Given the description of an element on the screen output the (x, y) to click on. 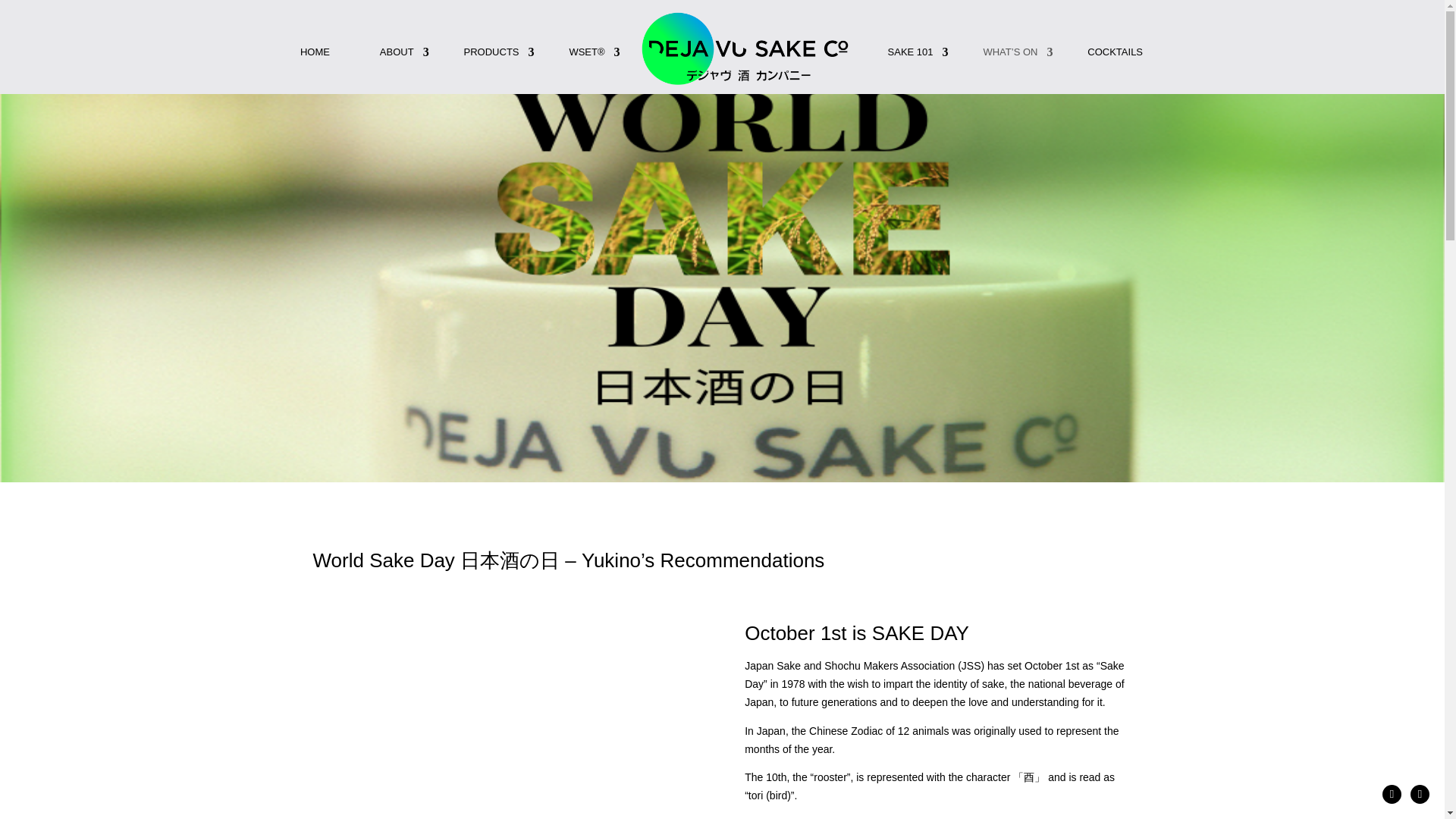
Facebook (1390, 793)
HOME (315, 70)
World Sake Day Intro (505, 717)
PRODUCTS (491, 70)
ABOUT (397, 70)
Instagram (1419, 793)
